Given the description of an element on the screen output the (x, y) to click on. 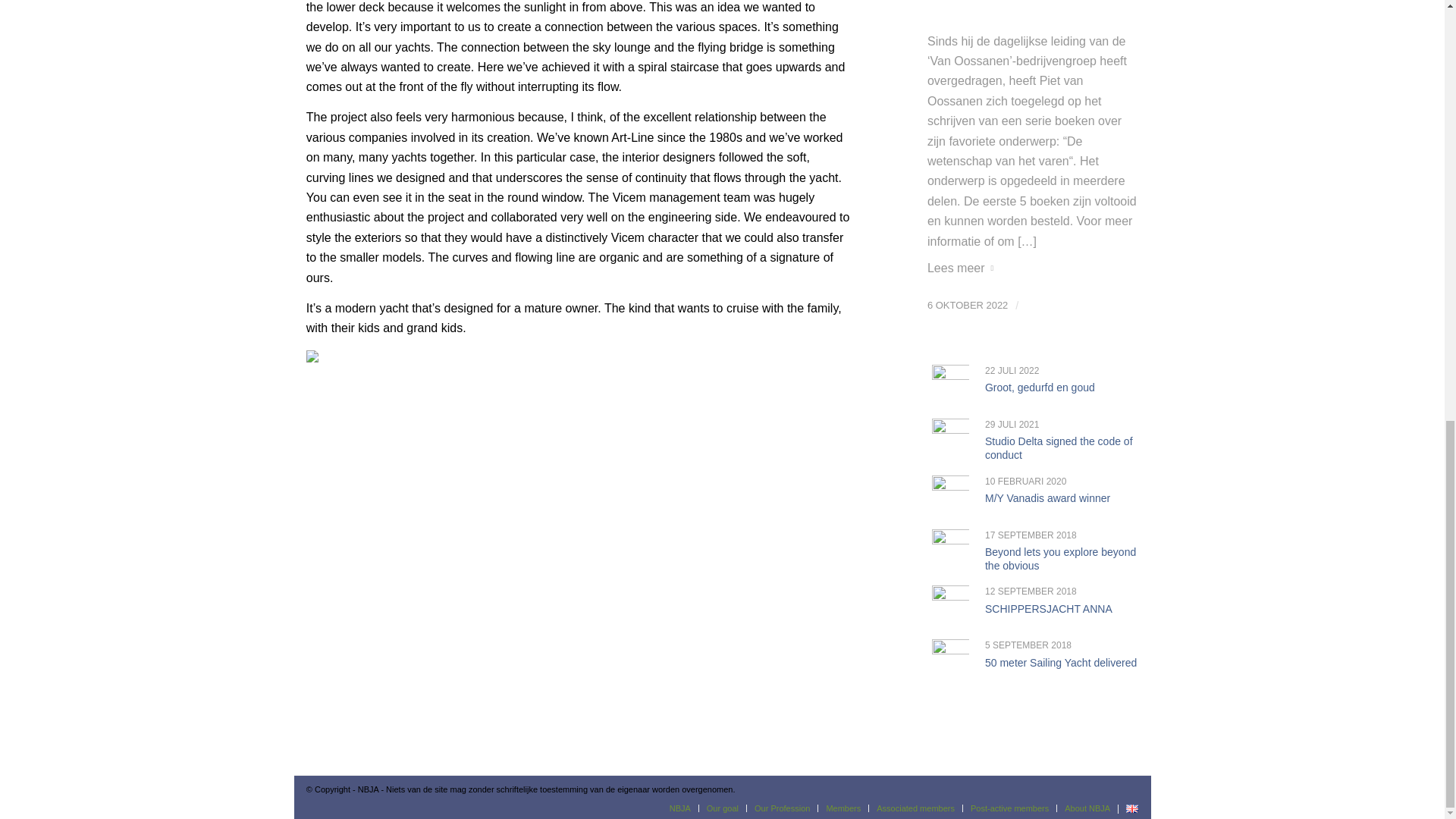
Our goal (722, 808)
NBJA (679, 808)
Our Profession (781, 808)
